Given the description of an element on the screen output the (x, y) to click on. 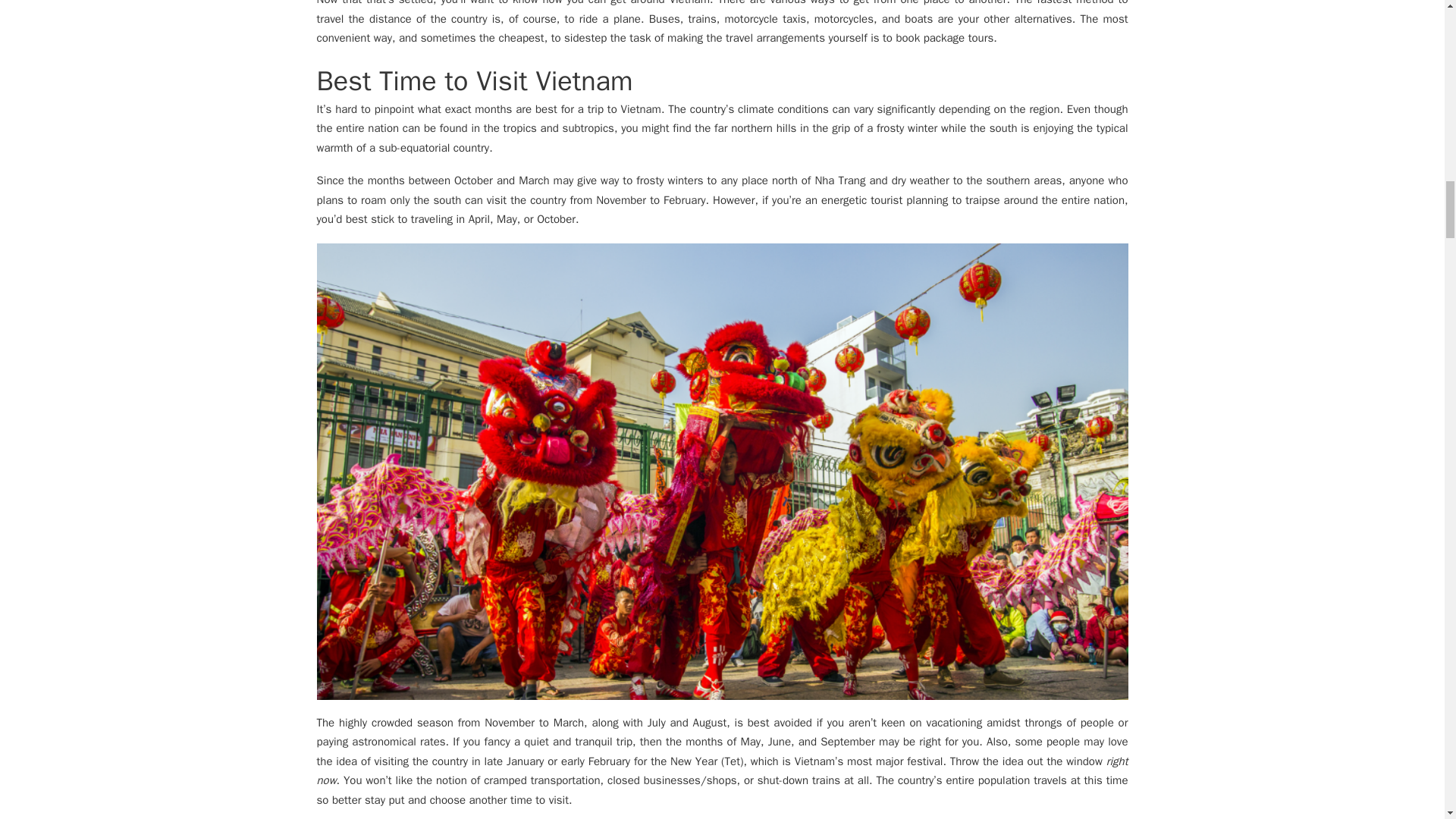
Nha Trang (838, 180)
